Given the description of an element on the screen output the (x, y) to click on. 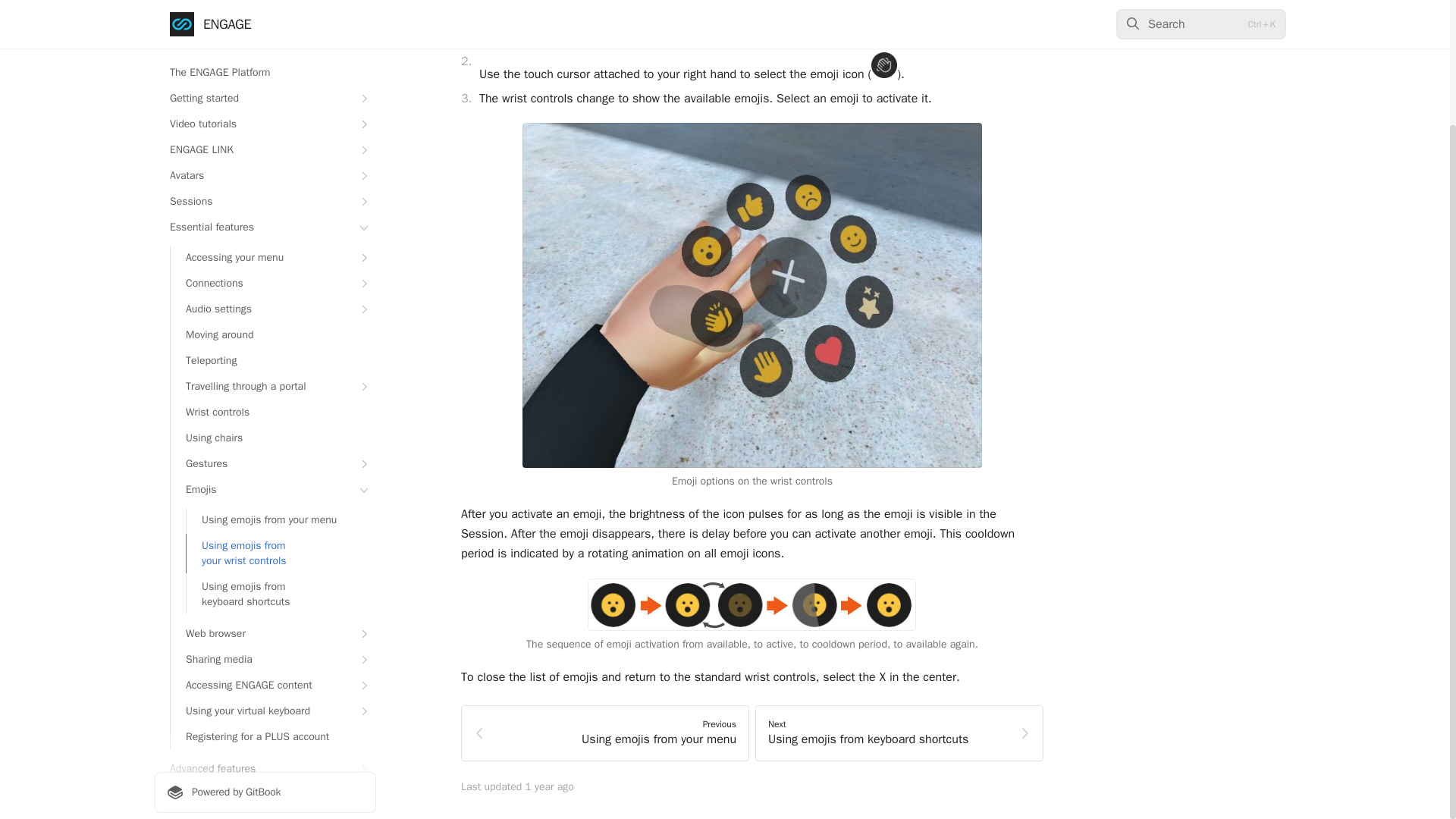
ENGAGE LINK (264, 7)
Avatars (264, 27)
